Given the description of an element on the screen output the (x, y) to click on. 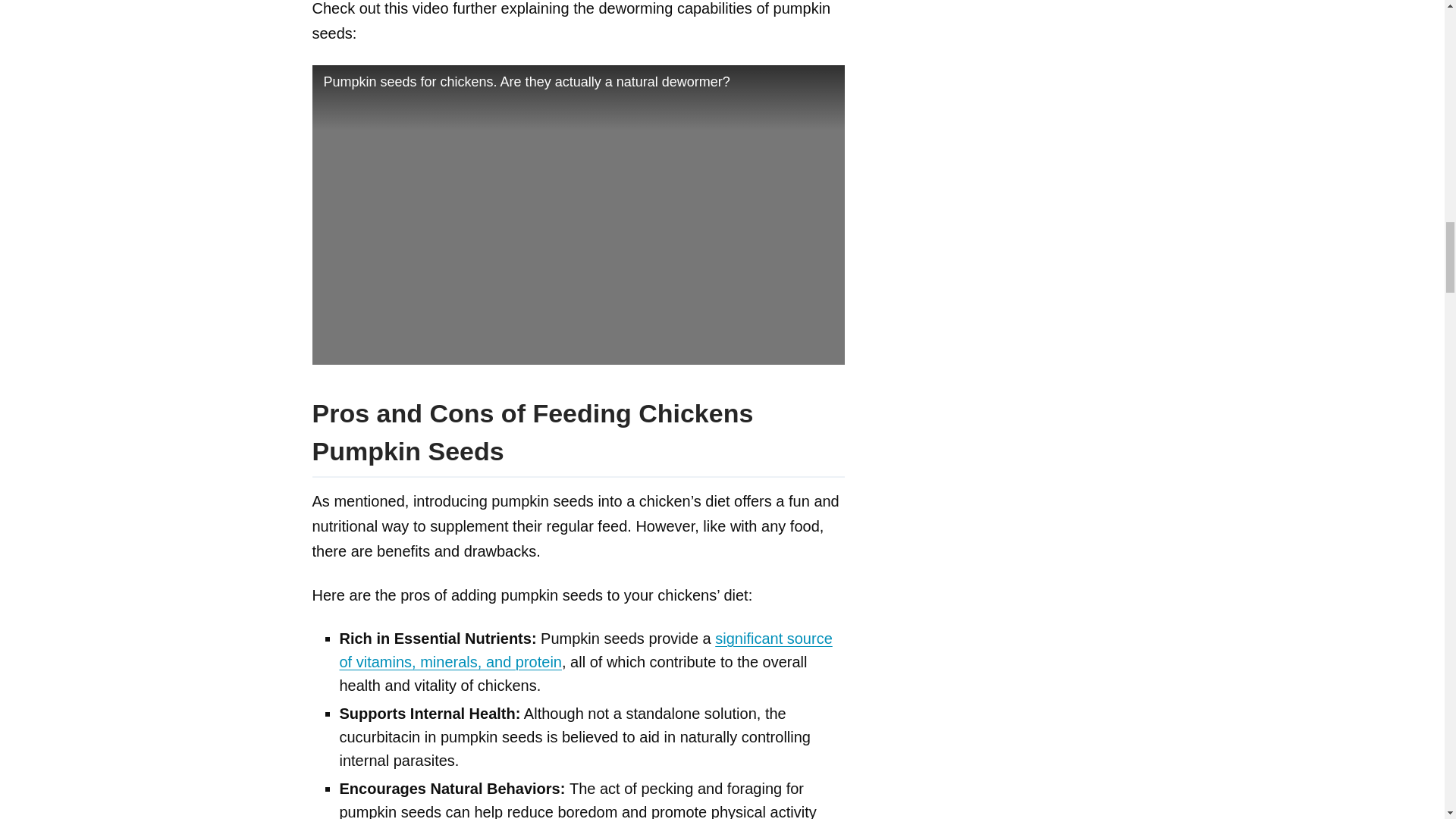
significant source of vitamins, minerals, and protein (585, 649)
